Given the description of an element on the screen output the (x, y) to click on. 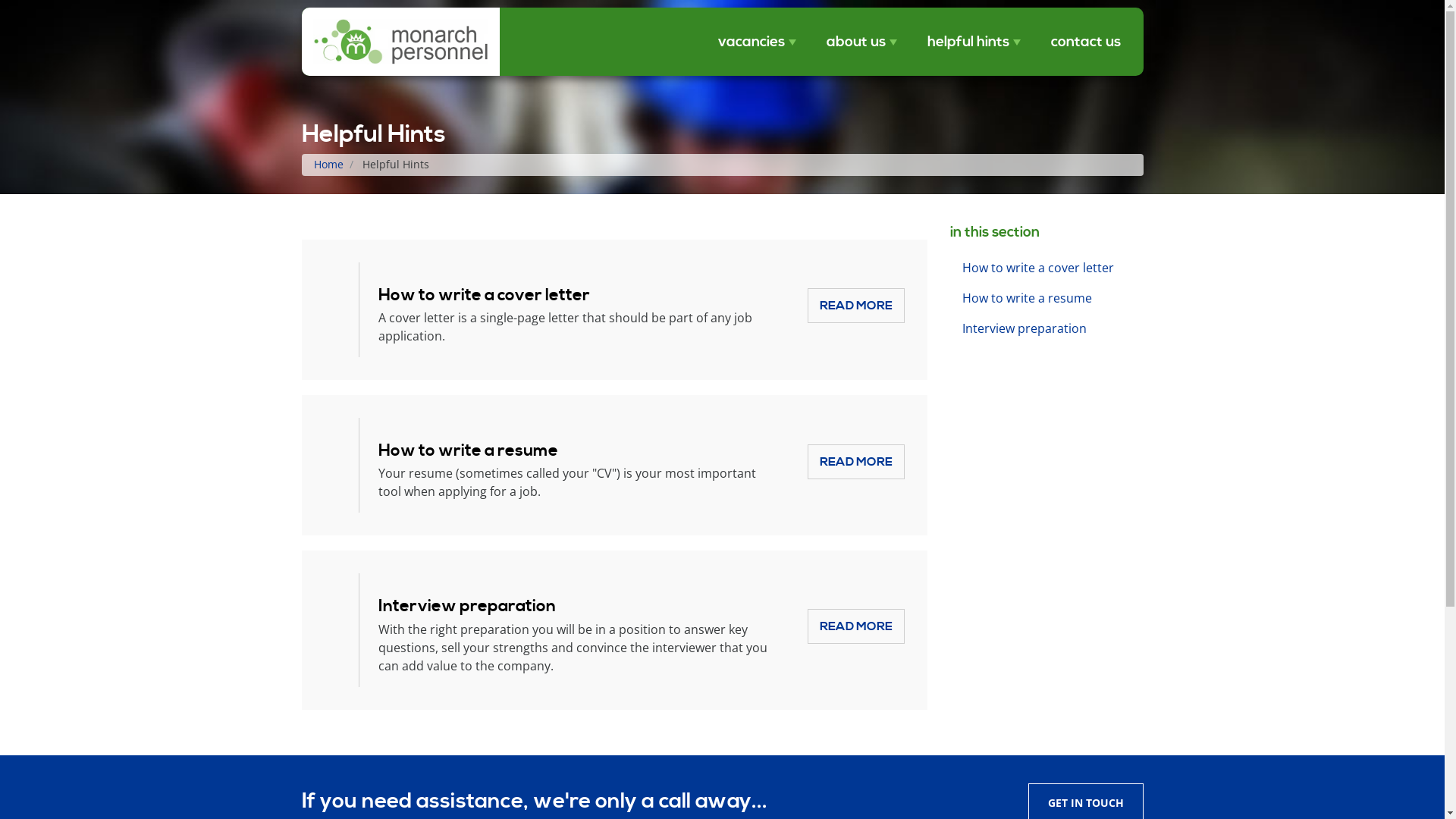
helpful hints Element type: text (973, 41)
READ MORE Element type: text (854, 461)
Interview preparation Element type: text (466, 606)
contact us Element type: text (1085, 41)
READ MORE Element type: text (854, 625)
How to write a cover letter Element type: text (1045, 267)
READ MORE Element type: text (854, 305)
How to write a cover letter Element type: text (483, 295)
vacancies Element type: text (756, 41)
Interview preparation Element type: text (1045, 328)
How to write a resume Element type: text (1045, 297)
about us Element type: text (861, 41)
How to write a resume Element type: text (467, 450)
Home Element type: text (328, 163)
